Given the description of an element on the screen output the (x, y) to click on. 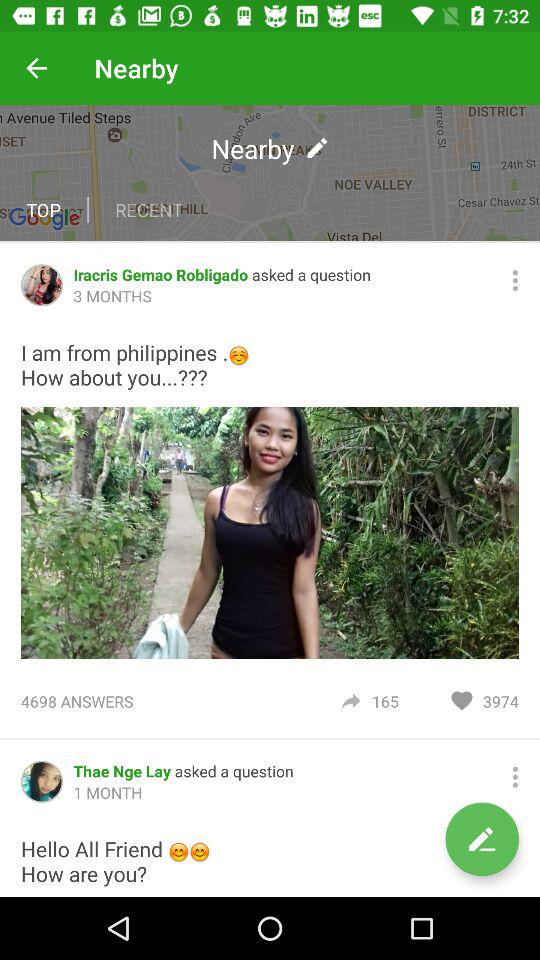
open item above the iracris gemao robligado (270, 172)
